Given the description of an element on the screen output the (x, y) to click on. 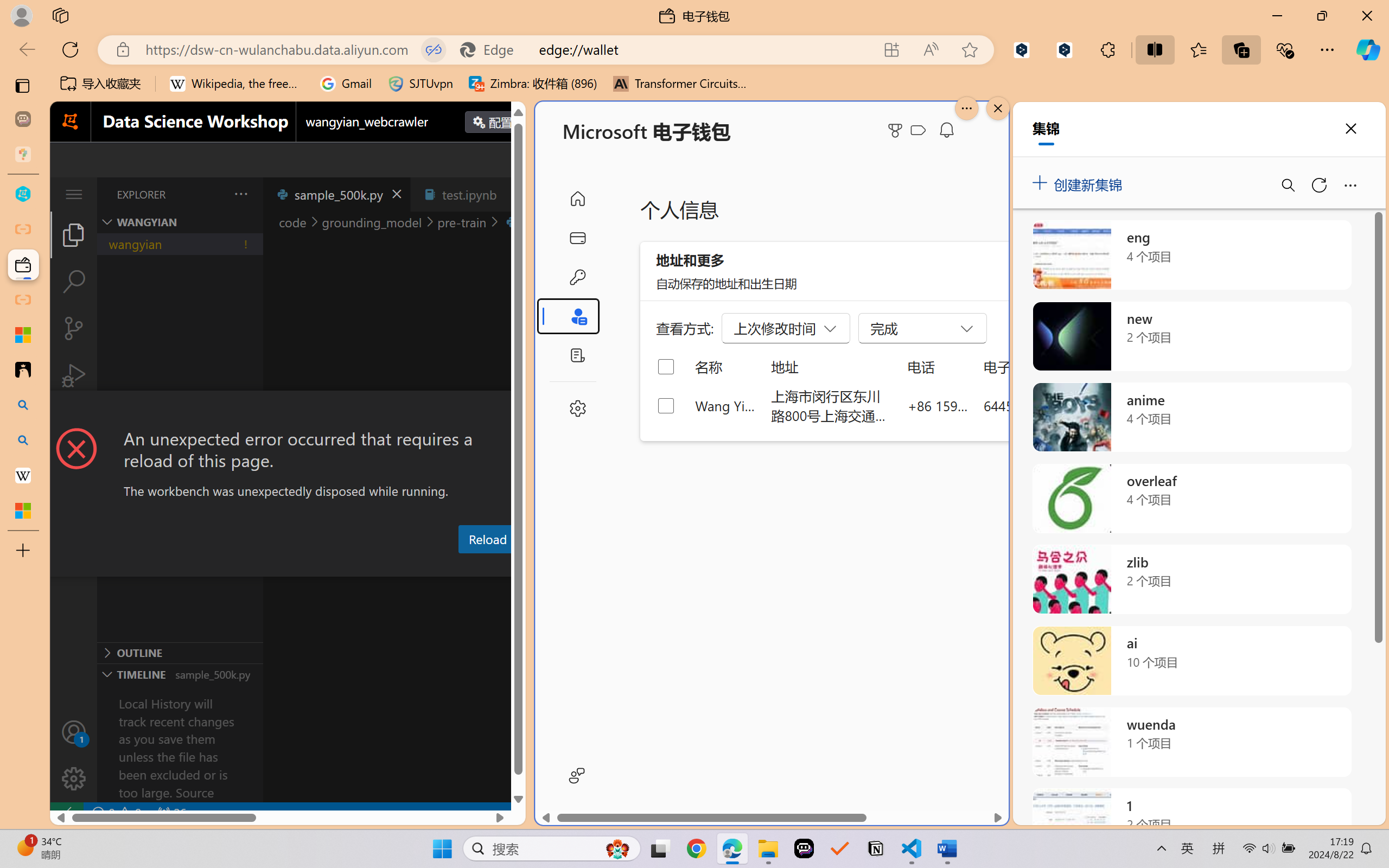
Output (Ctrl+Shift+U) (377, 565)
Run and Debug (Ctrl+Shift+D) (73, 375)
Outline Section (179, 652)
Close Dialog (520, 410)
